Given the description of an element on the screen output the (x, y) to click on. 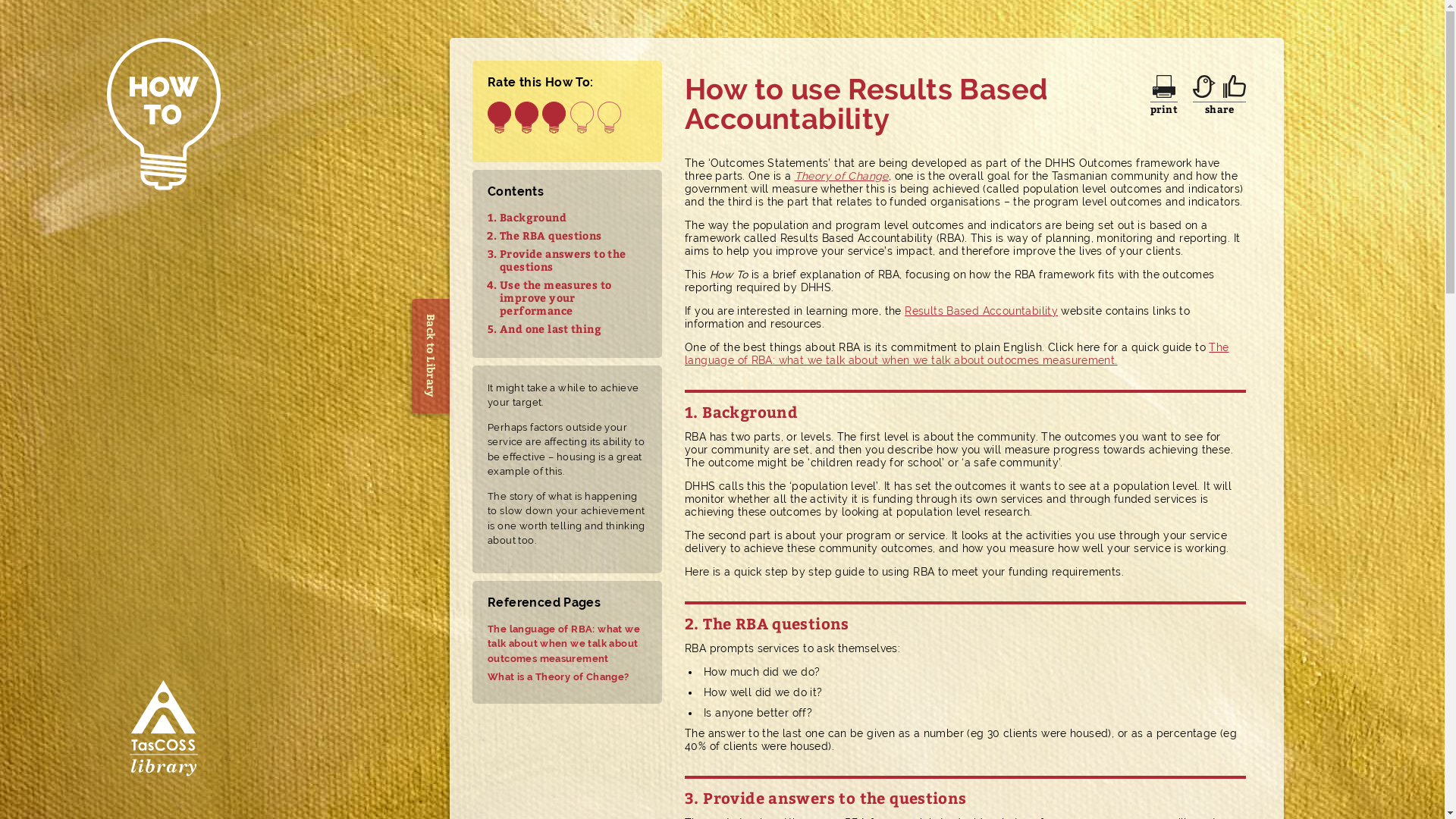
Tweet this Element type: hover (1203, 86)
TasCOSS Library Home Element type: hover (162, 730)
Results Based Accountability Element type: text (980, 310)
Back to Library Element type: text (468, 317)
Background Element type: text (532, 217)
Print this page Element type: hover (1163, 86)
Provide answers to the questions Element type: text (562, 259)
Use the measures to improve your performance Element type: text (555, 297)
2 Element type: hover (526, 119)
4 Element type: hover (581, 119)
Share this on Facebook Element type: hover (1234, 86)
5 Element type: hover (609, 119)
How To Home Element type: hover (162, 339)
And one last thing Element type: text (550, 328)
1 Element type: hover (499, 119)
Theory of Change Element type: text (841, 175)
The RBA questions Element type: text (550, 235)
3 Element type: hover (553, 119)
What is a Theory of Change? Element type: text (566, 676)
